Given the description of an element on the screen output the (x, y) to click on. 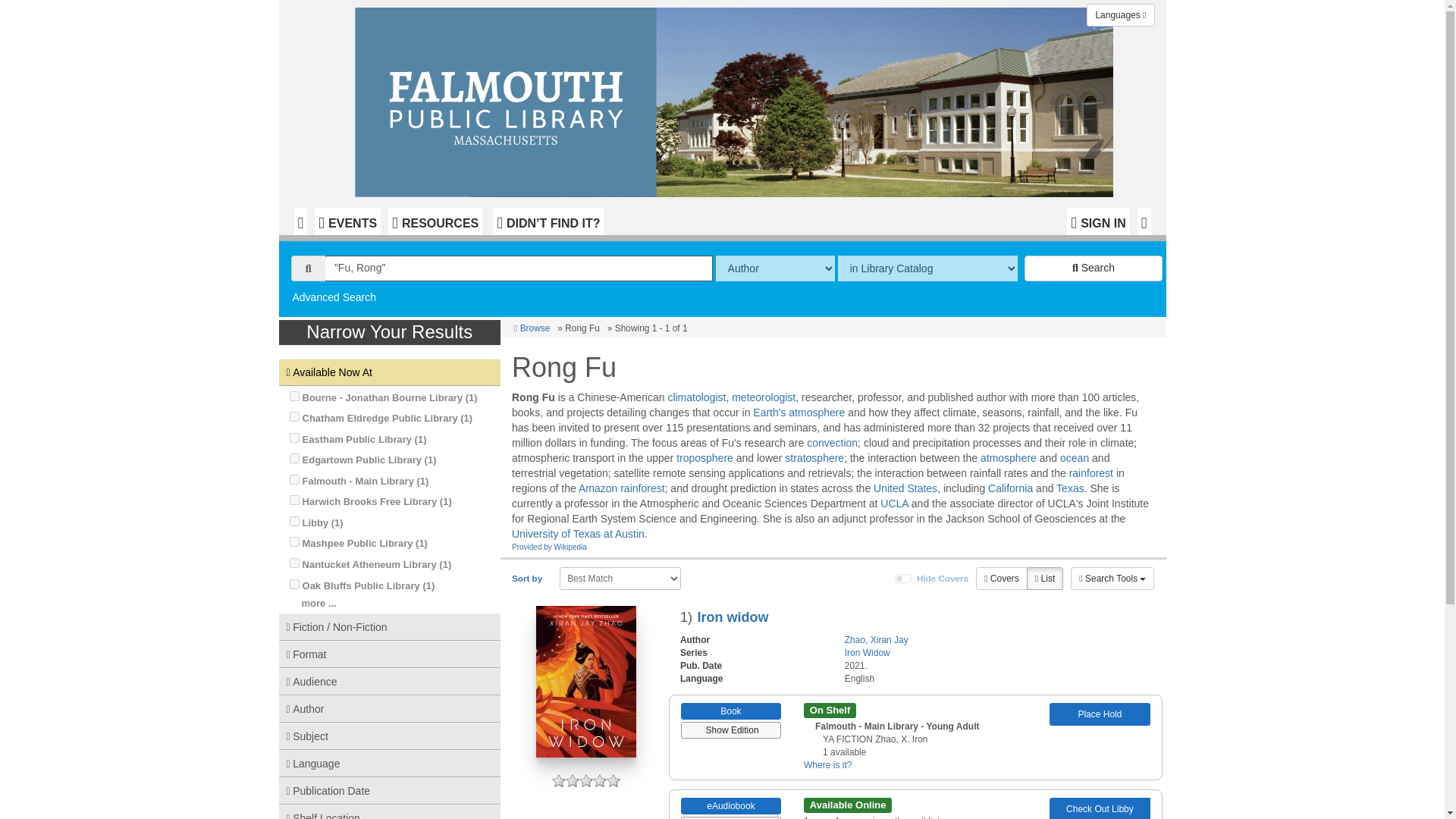
on (294, 562)
Login (1098, 221)
on (294, 521)
on (294, 416)
on (294, 500)
more ... (318, 603)
 Search (1093, 268)
on (294, 542)
